Given the description of an element on the screen output the (x, y) to click on. 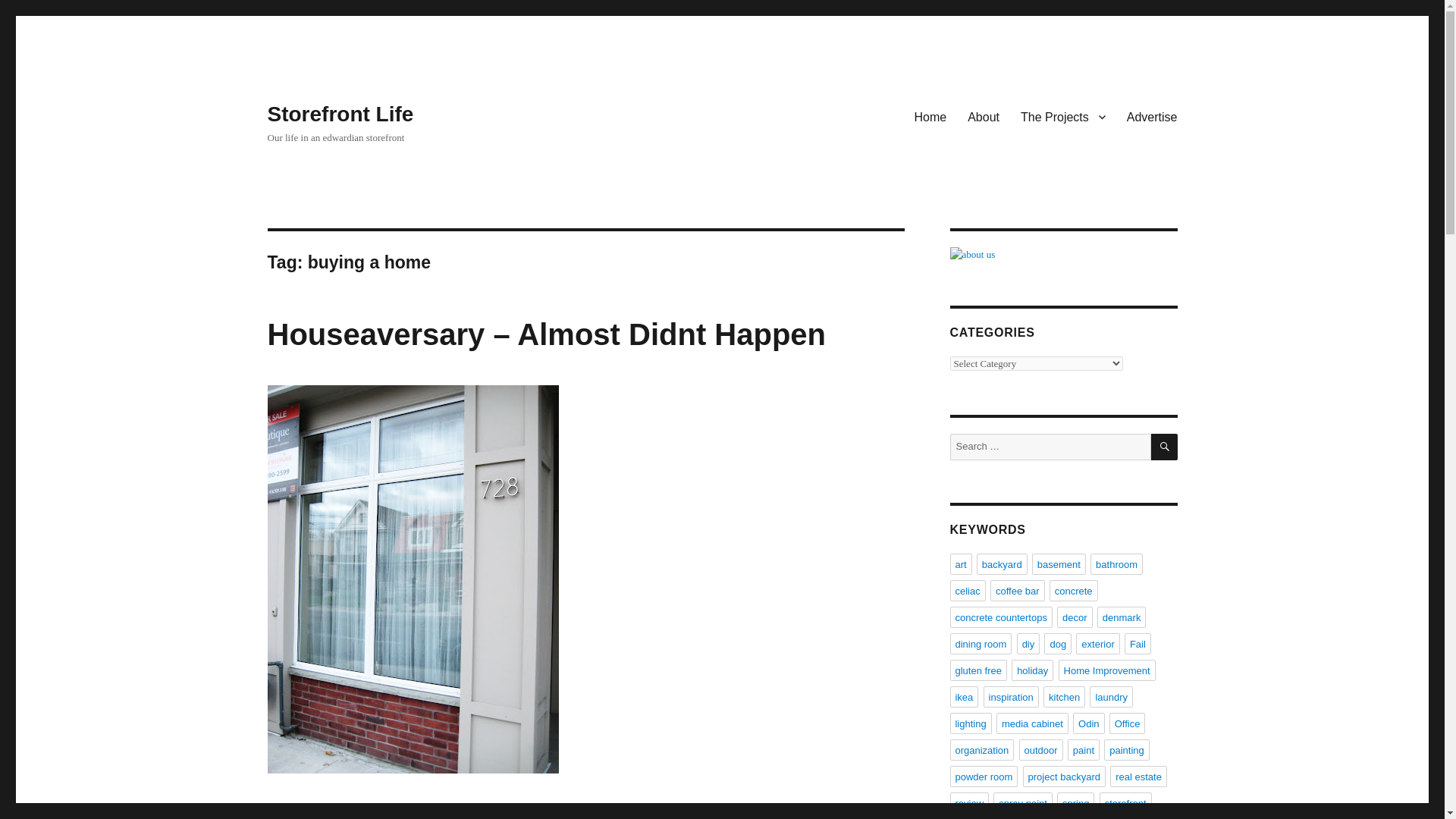
concrete (1073, 590)
backyard (1001, 563)
SEARCH (1164, 447)
Storefront Life (339, 114)
Advertise (1152, 116)
about us (1062, 254)
concrete countertops (1000, 617)
The Projects (1063, 116)
dining room (980, 643)
celiac (967, 590)
art (960, 563)
dog (1057, 643)
bathroom (1116, 563)
Fail (1137, 643)
denmark (1122, 617)
